Given the description of an element on the screen output the (x, y) to click on. 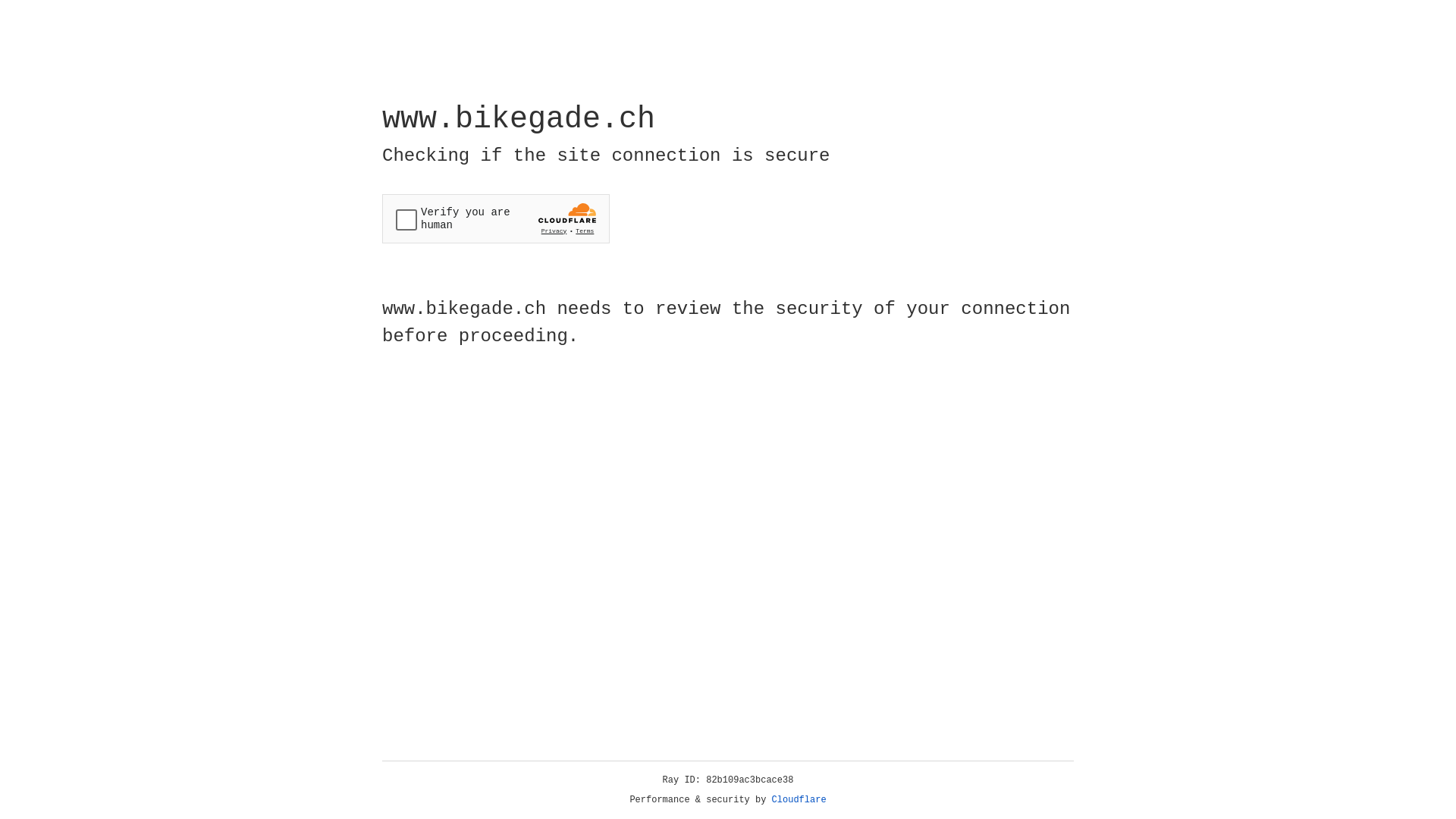
Widget containing a Cloudflare security challenge Element type: hover (495, 218)
Cloudflare Element type: text (798, 799)
